Given the description of an element on the screen output the (x, y) to click on. 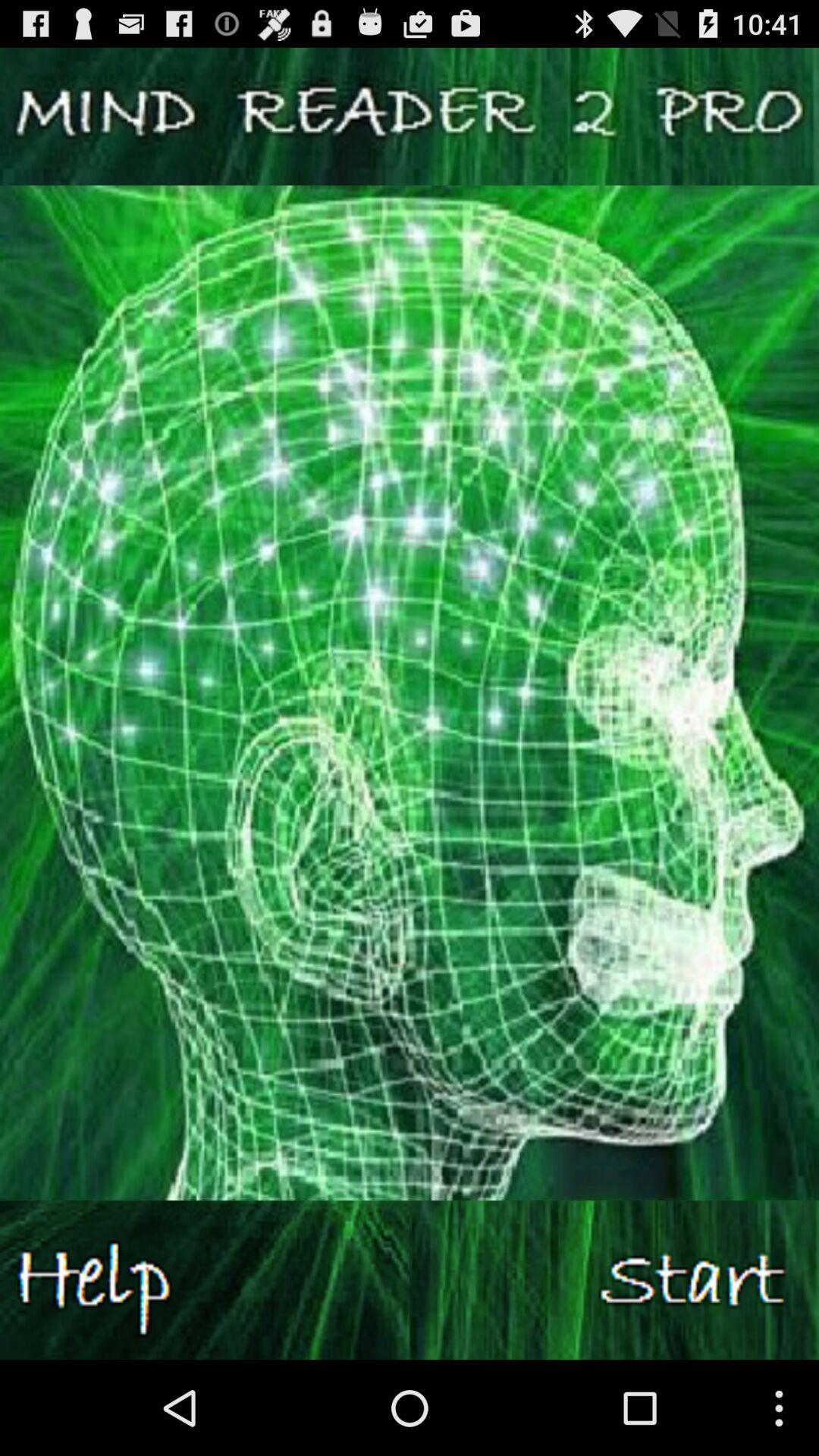
go to start (614, 1279)
